Given the description of an element on the screen output the (x, y) to click on. 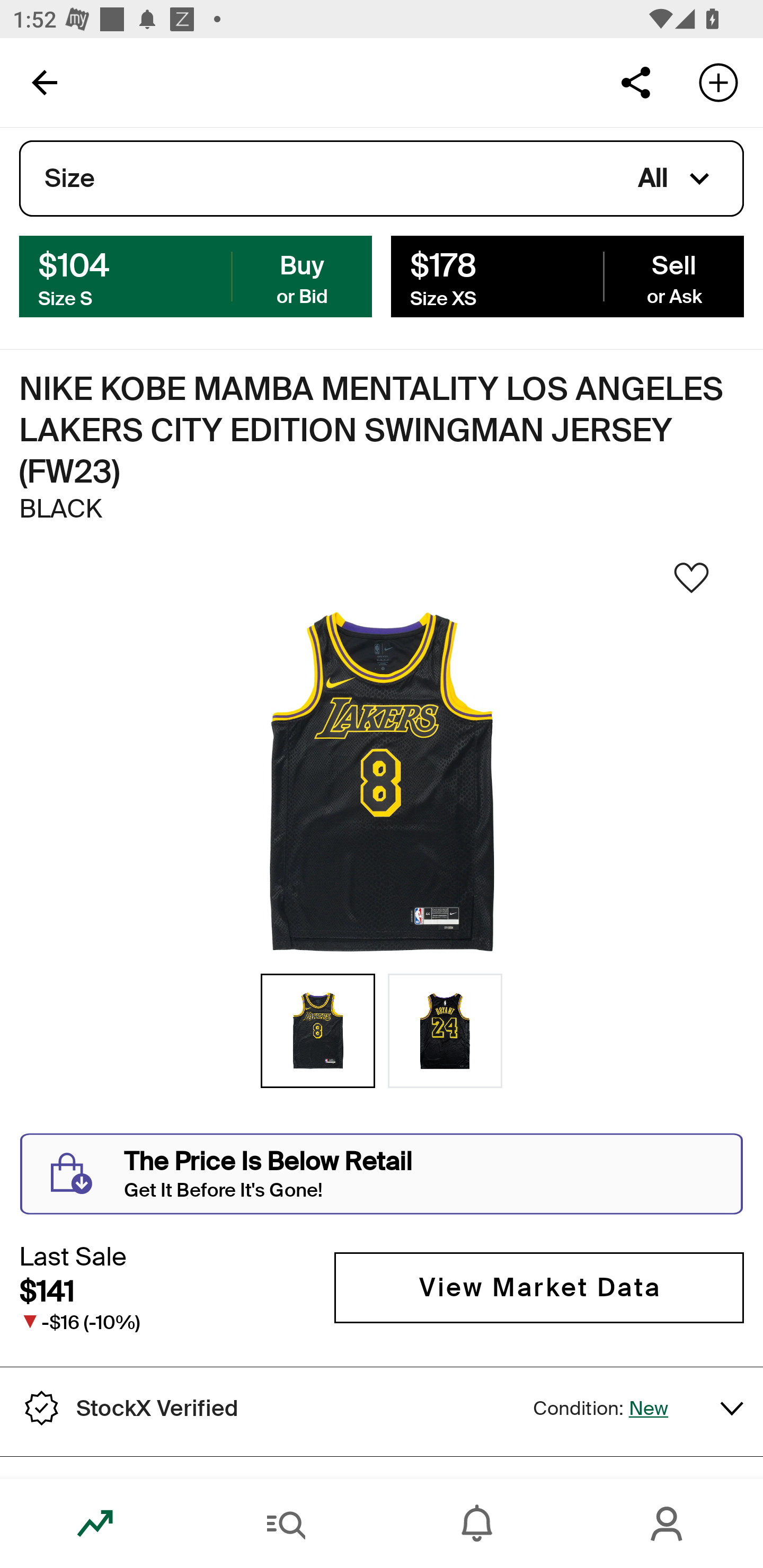
DesignerSunglassesUpto40_Off_Primary_Mobile.jpg (381, 322)
Share (635, 81)
Add (718, 81)
Size All (381, 178)
$104 Buy Size S or Bid (195, 275)
$178 Sell Size XS or Ask (566, 275)
Sneaker Image (381, 782)
View Market Data (538, 1287)
Search (285, 1523)
Inbox (476, 1523)
Account (667, 1523)
